Given the description of an element on the screen output the (x, y) to click on. 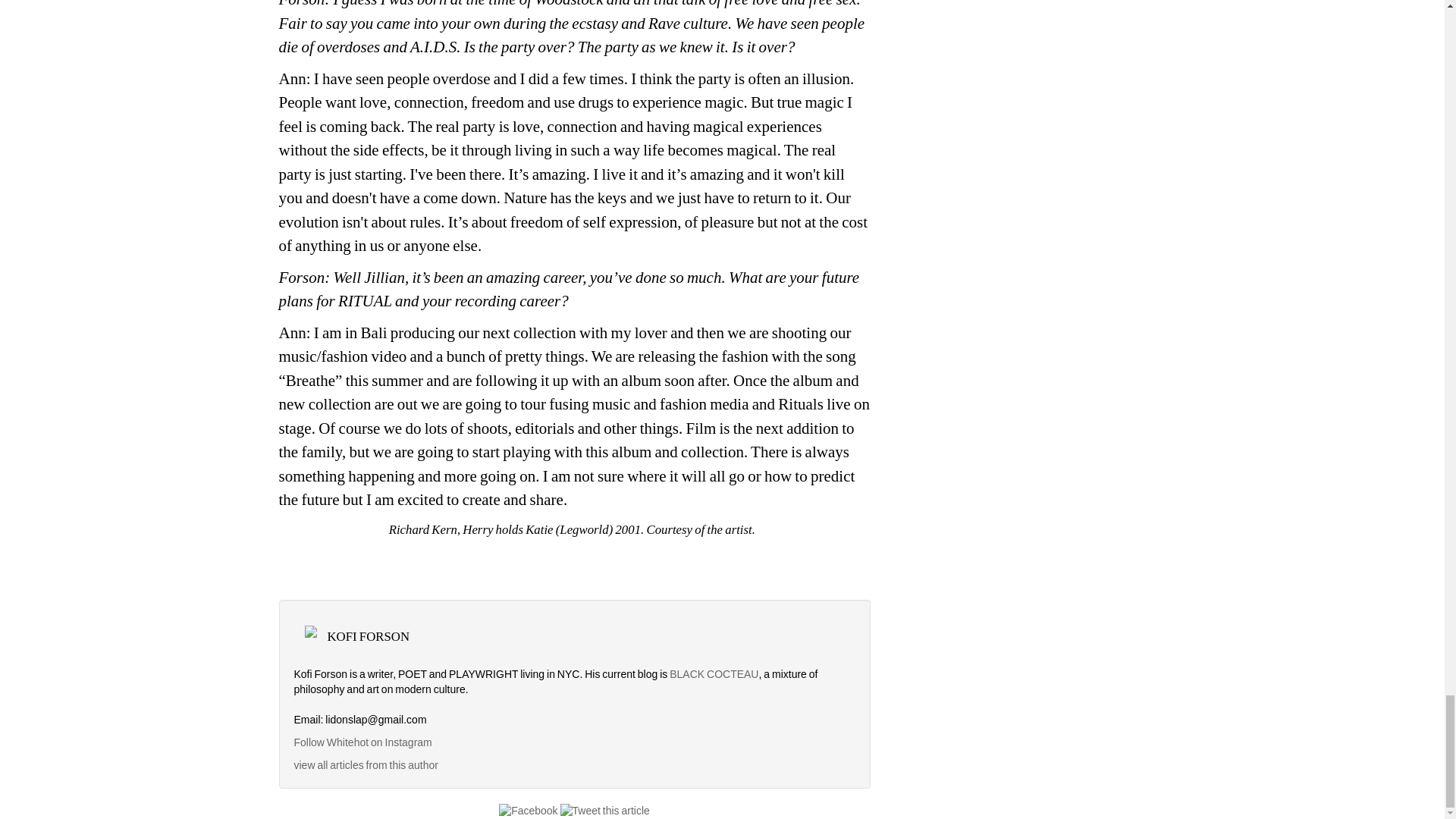
Follow Whitehot on Instagram  (363, 742)
BLACK COCTEAU (713, 674)
view all articles from this author (366, 765)
Facebook (528, 810)
